Given the description of an element on the screen output the (x, y) to click on. 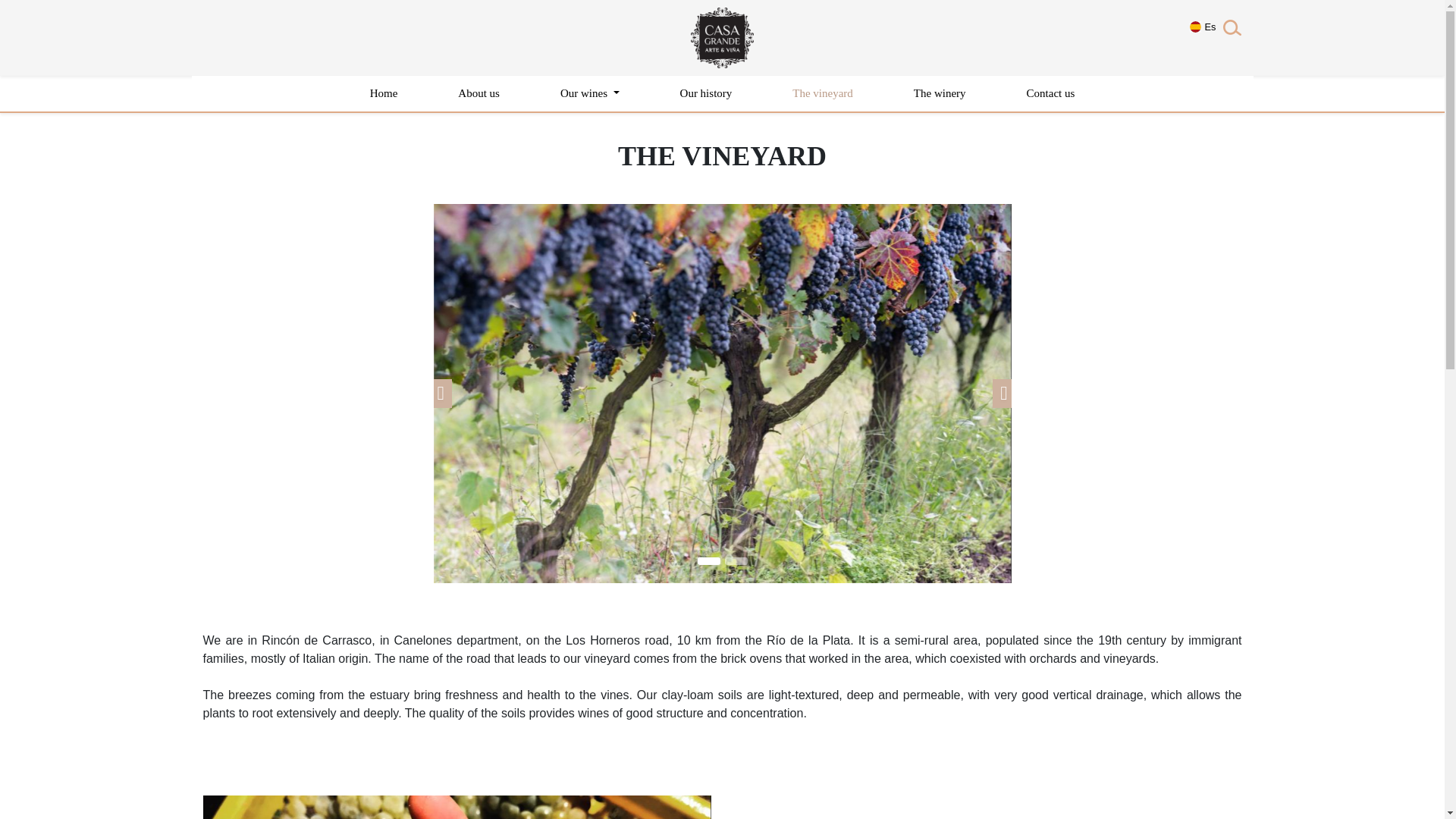
Es (1202, 37)
About us (478, 93)
Home (383, 93)
